Given the description of an element on the screen output the (x, y) to click on. 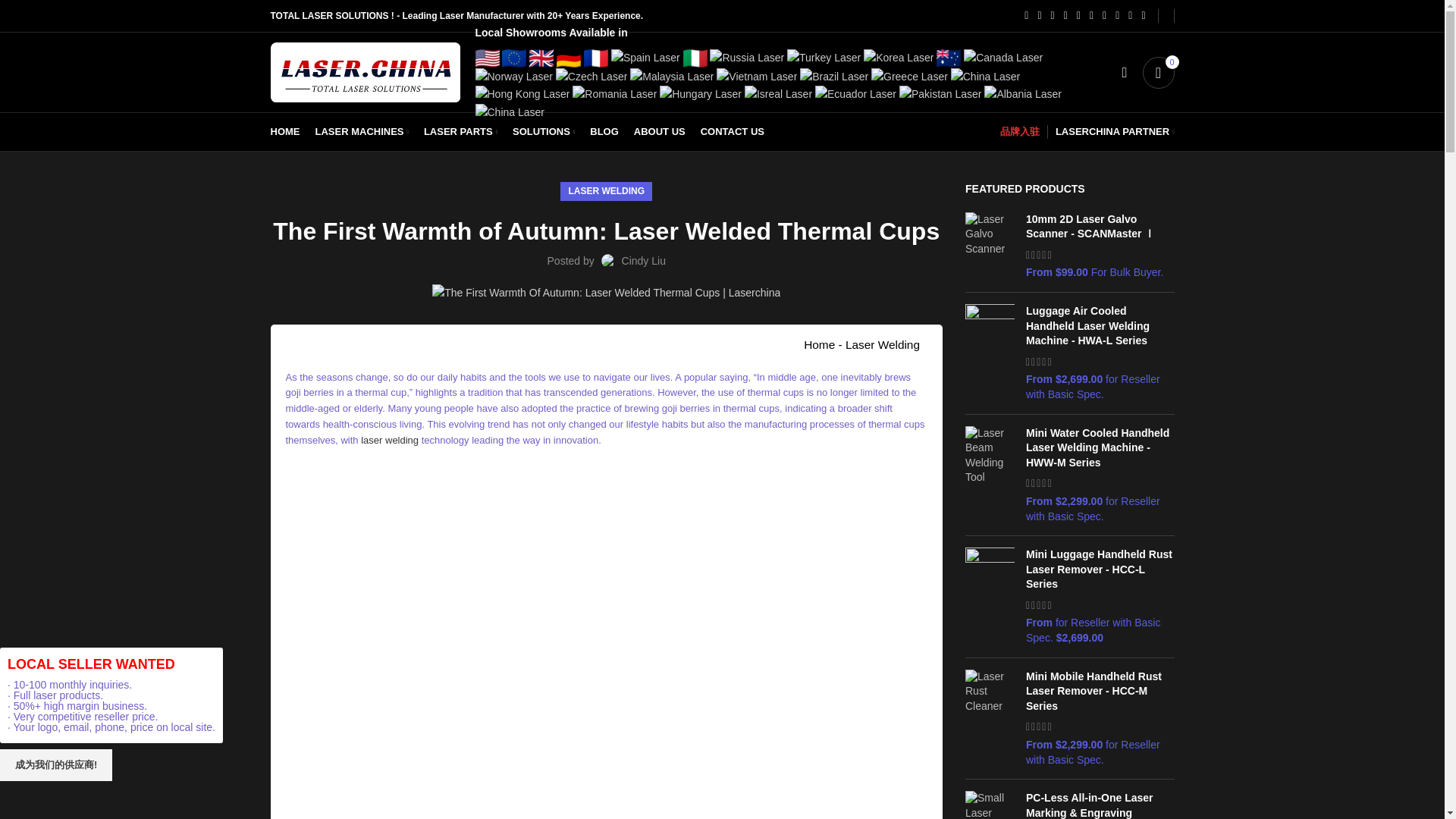
LASER MACHINES (361, 132)
LASER PARTS (460, 132)
ABOUT US (659, 132)
BLOG (604, 132)
Shopping cart (1157, 72)
LASERCHINA PARTNER (1114, 132)
SOLUTIONS (543, 132)
CONTACT US (732, 132)
